Given the description of an element on the screen output the (x, y) to click on. 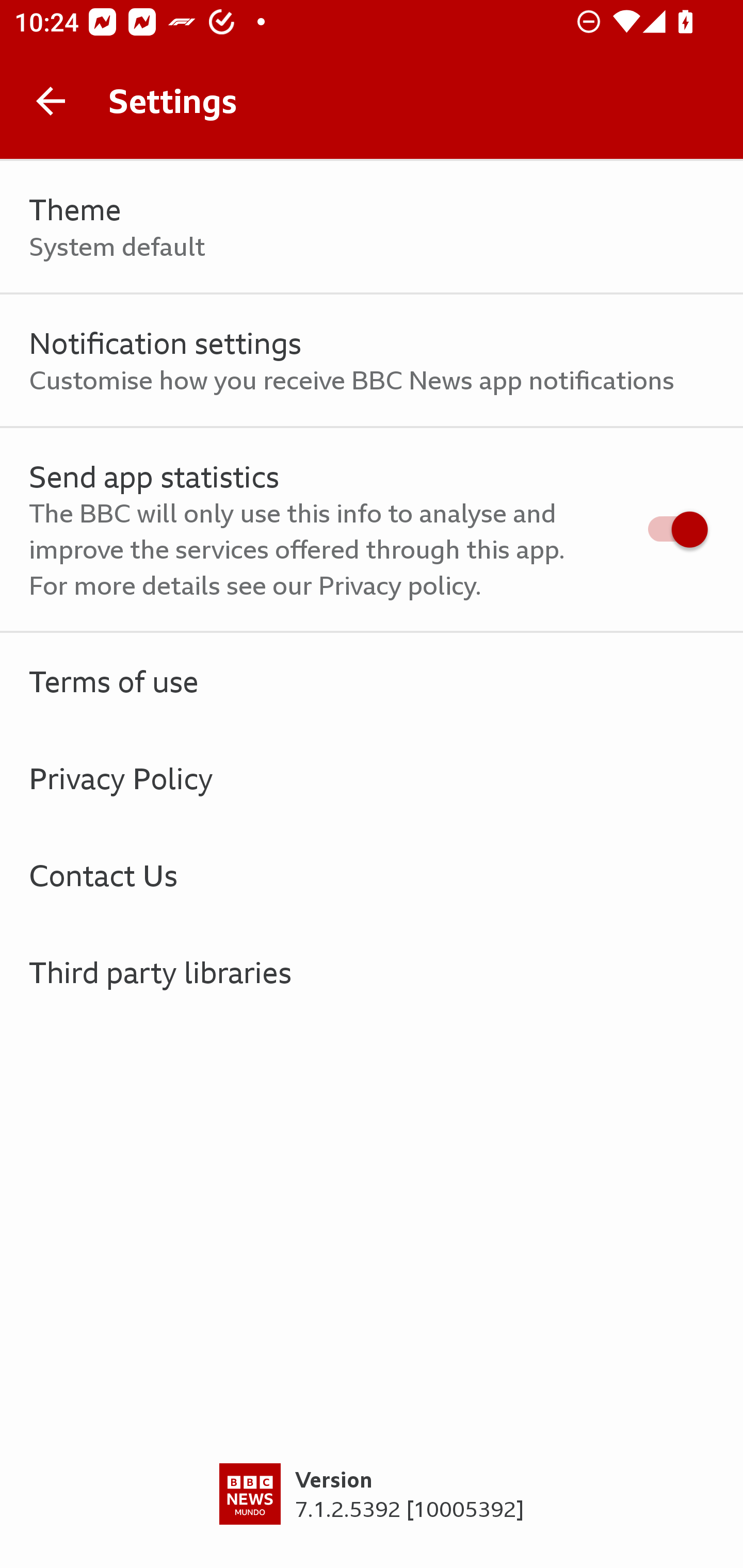
Back (50, 101)
Theme System default (371, 227)
Terms of use (371, 681)
Privacy Policy (371, 777)
Contact Us (371, 874)
Third party libraries (371, 971)
Version 7.1.2.5392 [10005392] (371, 1515)
